Given the description of an element on the screen output the (x, y) to click on. 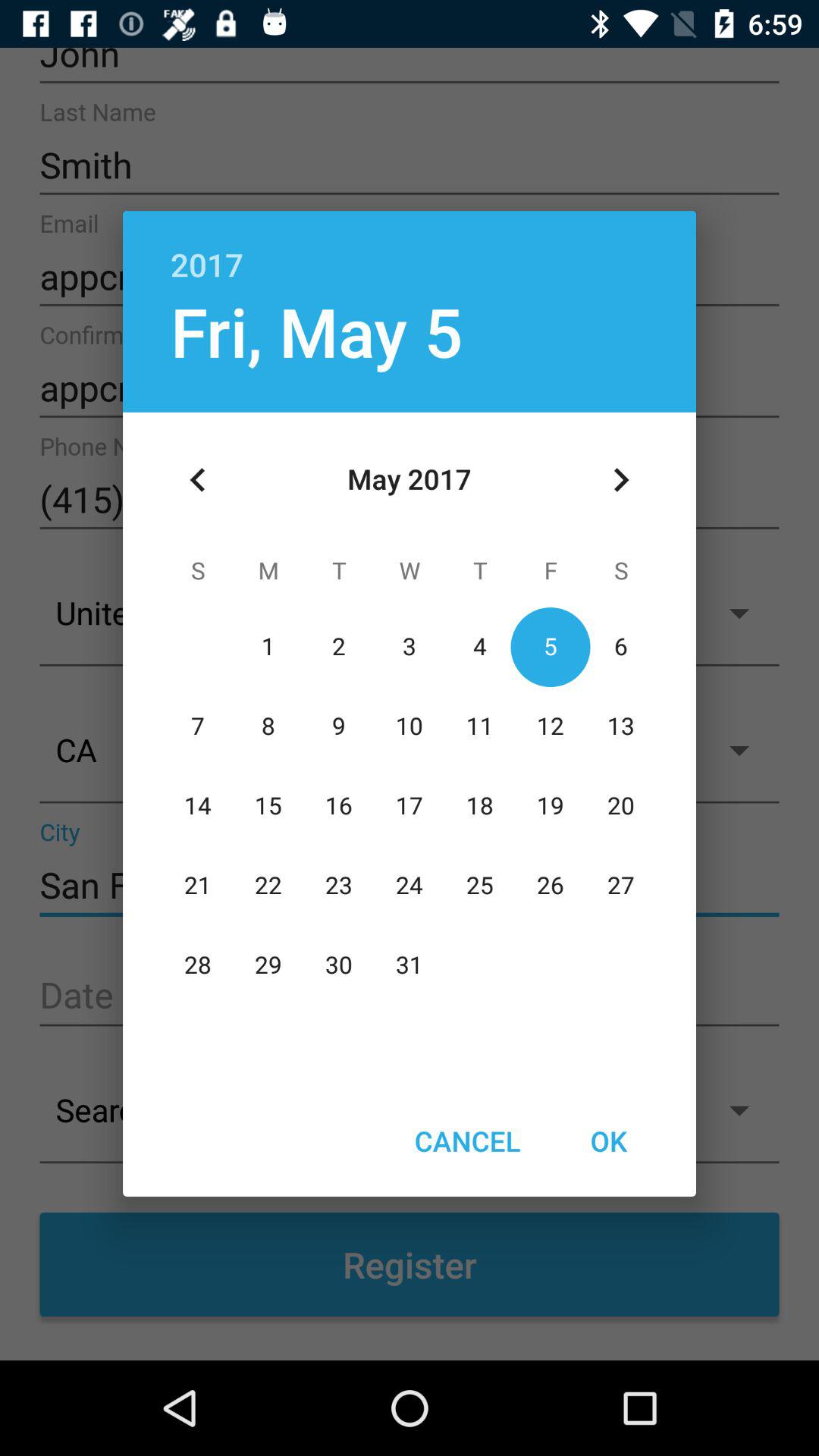
tap the icon below the fri, may 5 icon (197, 479)
